Given the description of an element on the screen output the (x, y) to click on. 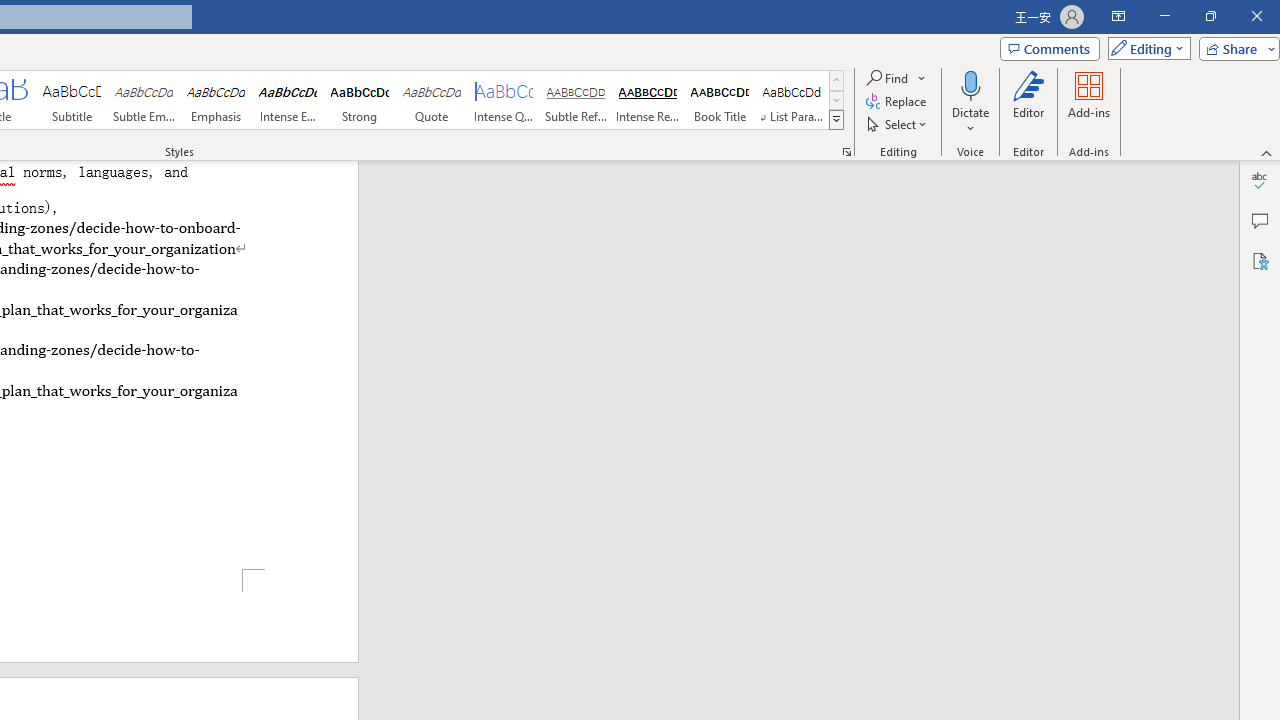
Subtle Emphasis (143, 100)
Intense Emphasis (287, 100)
